Given the description of an element on the screen output the (x, y) to click on. 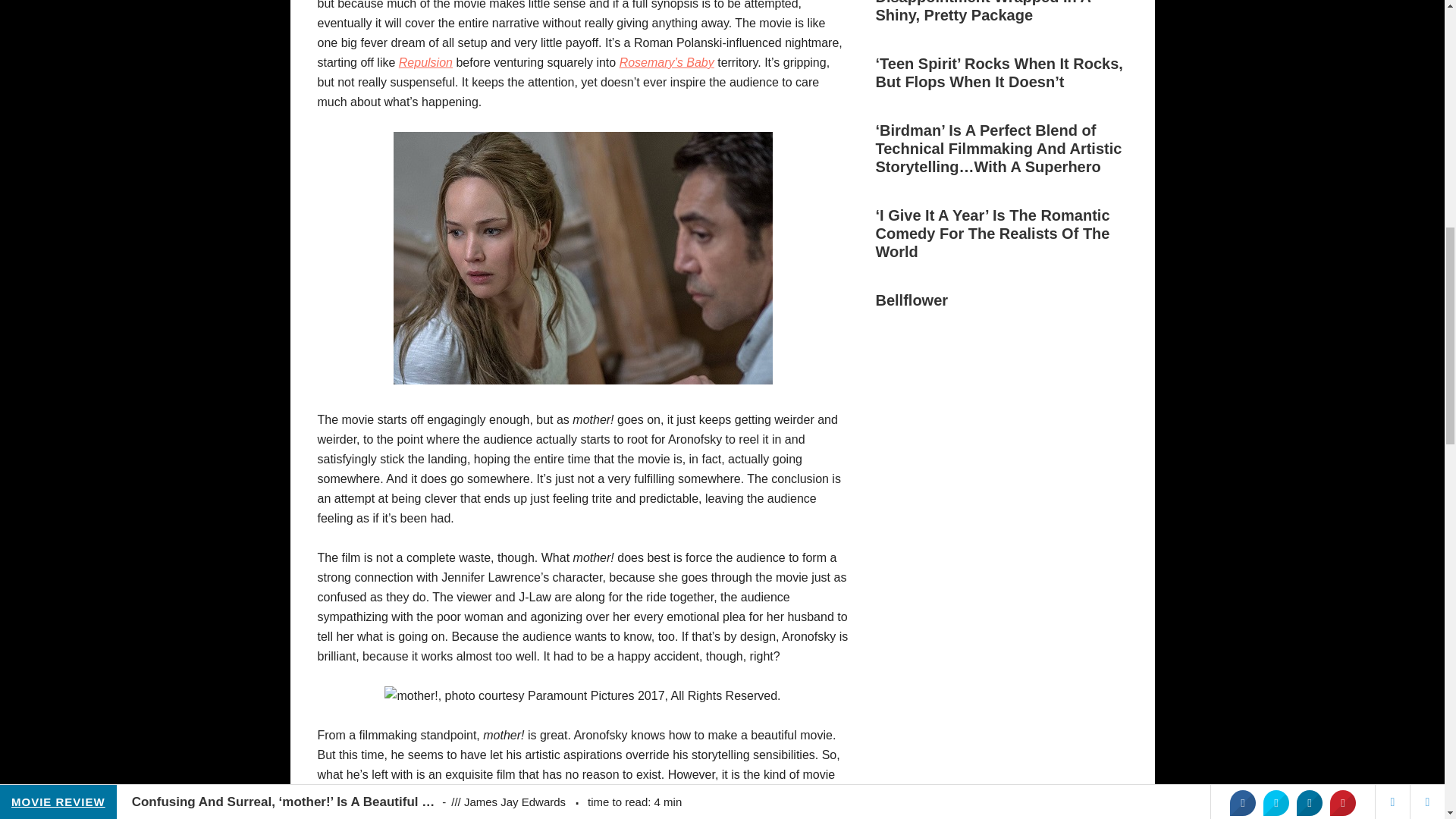
Repulsion (425, 62)
Bellflower (911, 299)
